Given the description of an element on the screen output the (x, y) to click on. 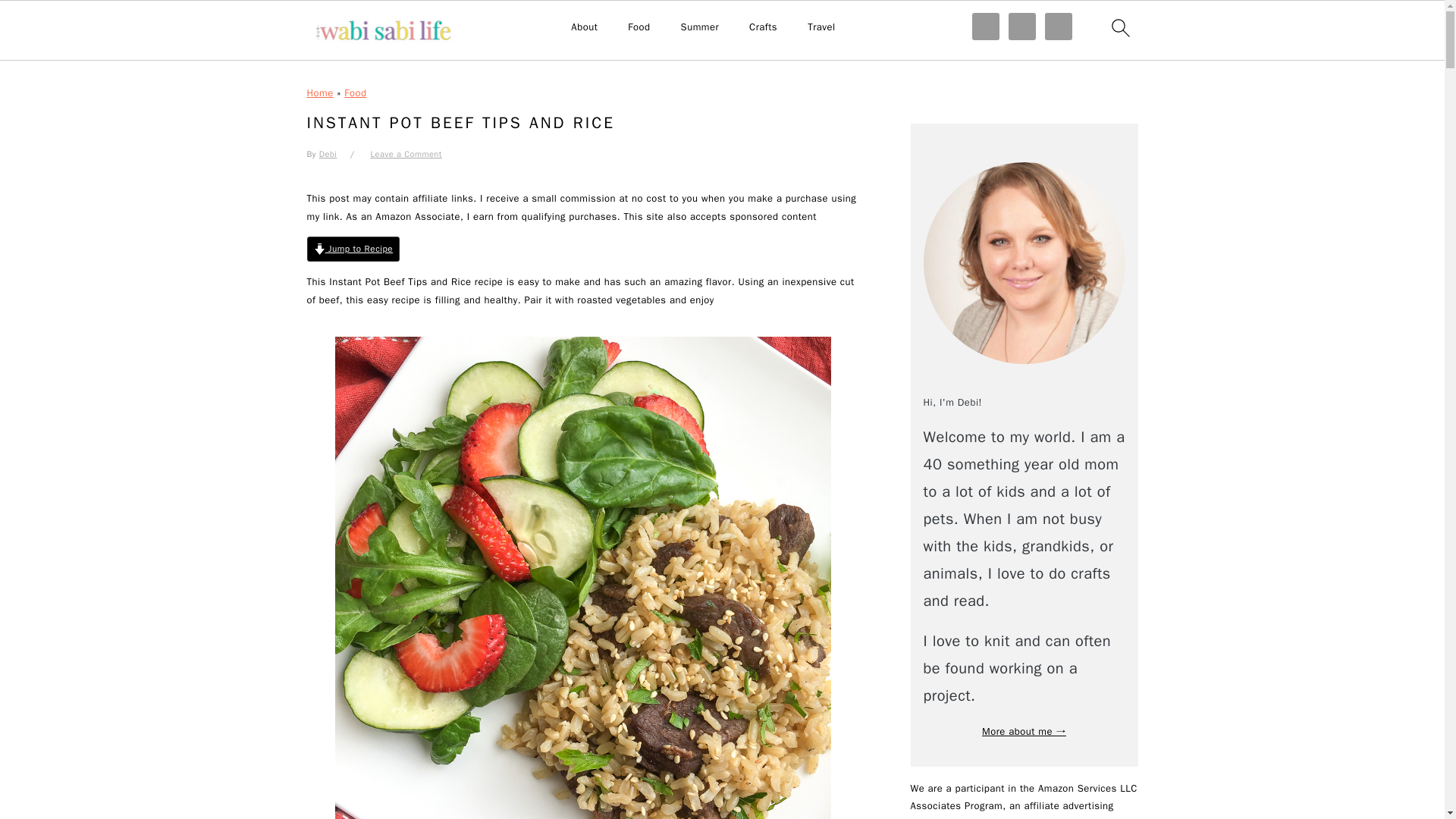
search icon (1119, 27)
Summer (700, 27)
Travel (821, 27)
Food (638, 27)
About (583, 27)
Crafts (763, 27)
